Given the description of an element on the screen output the (x, y) to click on. 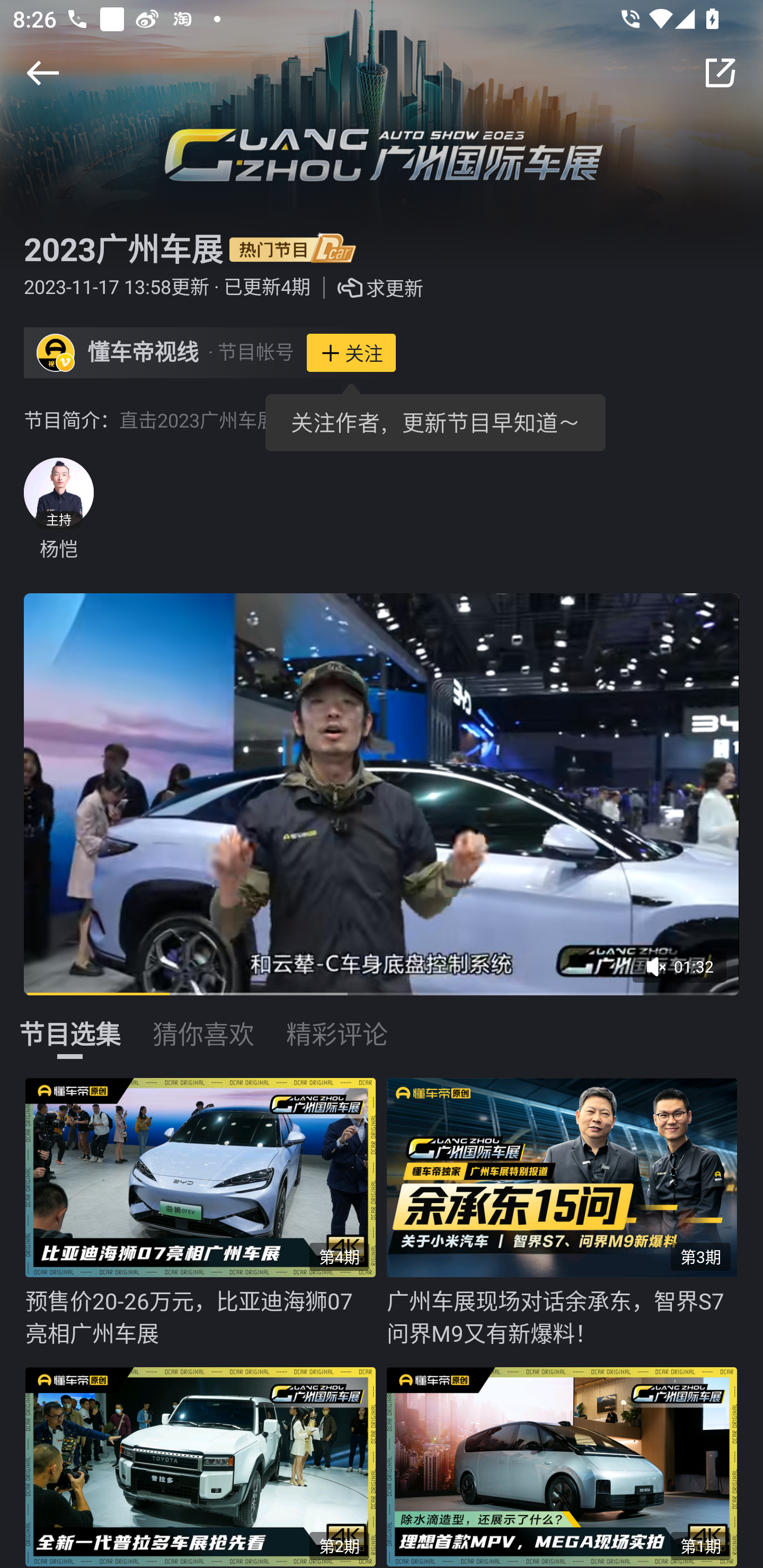
 (42, 72)
 (720, 72)
 求更新 (366, 287)
懂车帝视线 (142, 352)
· 节目帐号 (250, 352)
 关注 (350, 352)
主持 杨恺 (58, 509)
01:32 (685, 972)
节目选集 (69, 1022)
猜你喜欢 (203, 1022)
精彩评论 (336, 1022)
第4期 预售价20-26万元，比亚迪海狮07亮相广州车展 (205, 1212)
第3期 广州车展现场对话余承东，智界S7问界M9又有新爆料！ (567, 1212)
第2期 (205, 1462)
第1期 (567, 1462)
